Given the description of an element on the screen output the (x, y) to click on. 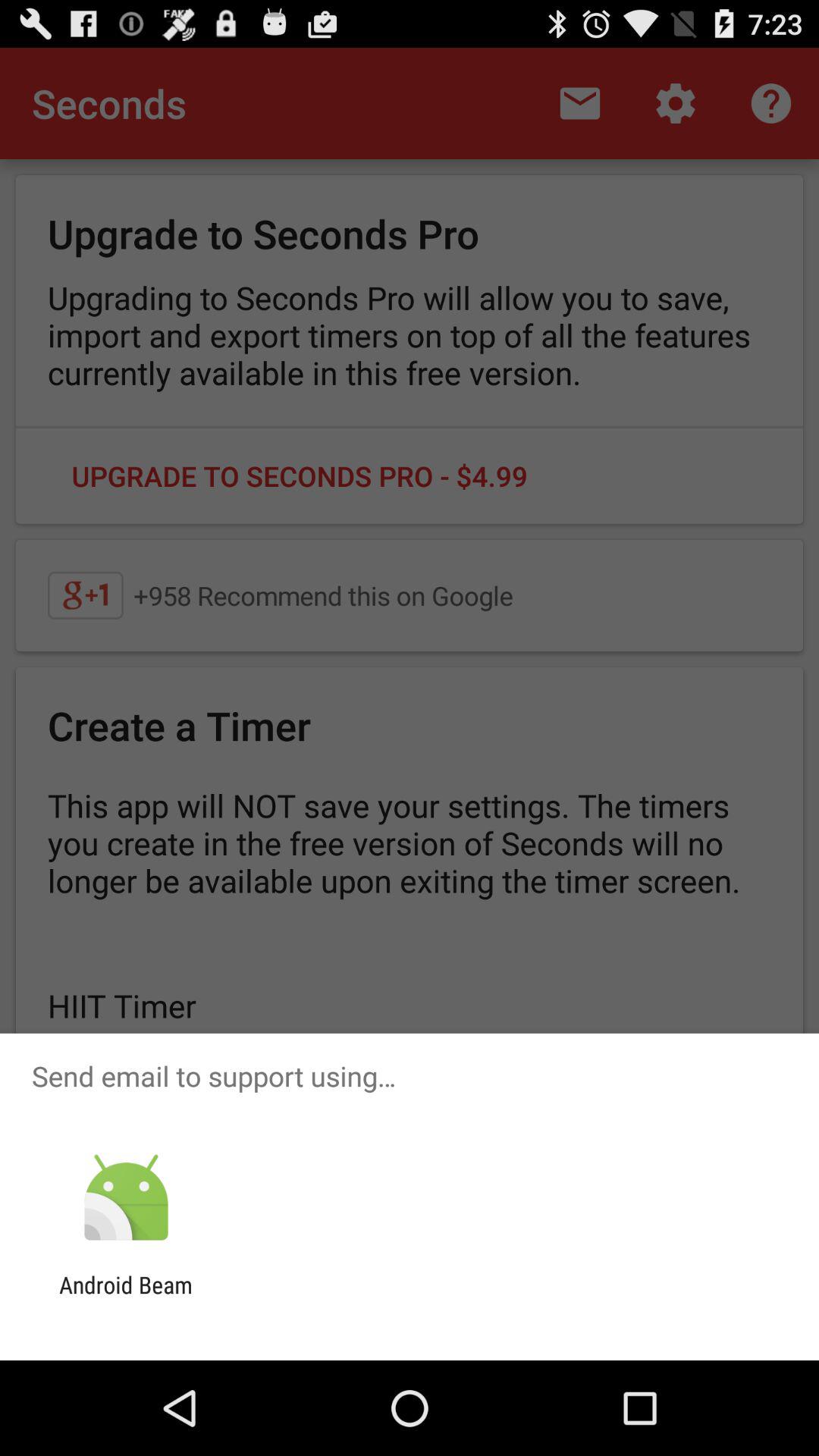
click app below the send email to icon (126, 1198)
